Given the description of an element on the screen output the (x, y) to click on. 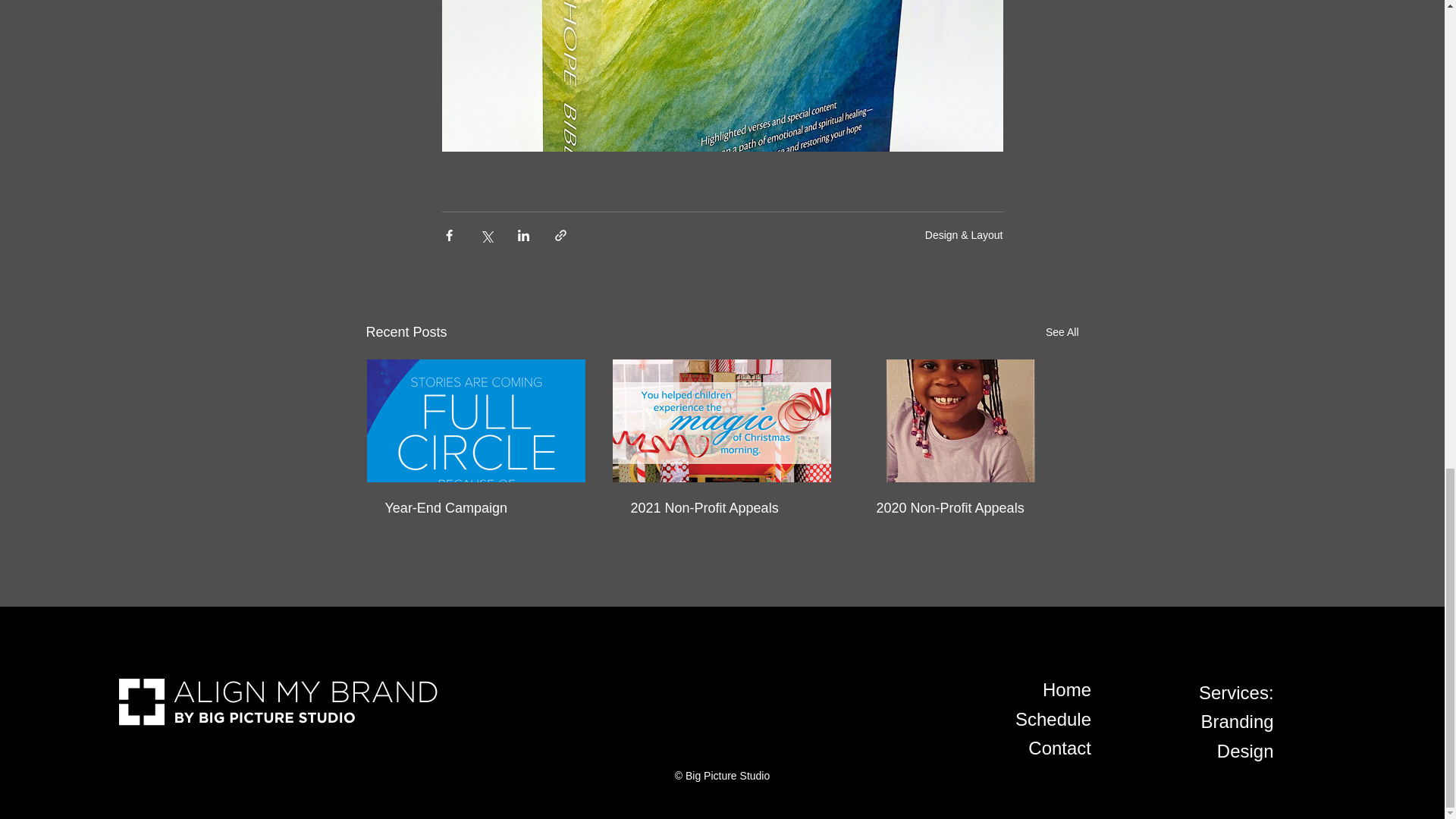
Contact (1058, 747)
Year-End Campaign (476, 508)
Branding (1237, 721)
Schedule (1052, 719)
2020 Non-Profit Appeals (967, 508)
See All (1061, 332)
Home (1066, 689)
Design (1245, 751)
2021 Non-Profit Appeals (721, 508)
